Given the description of an element on the screen output the (x, y) to click on. 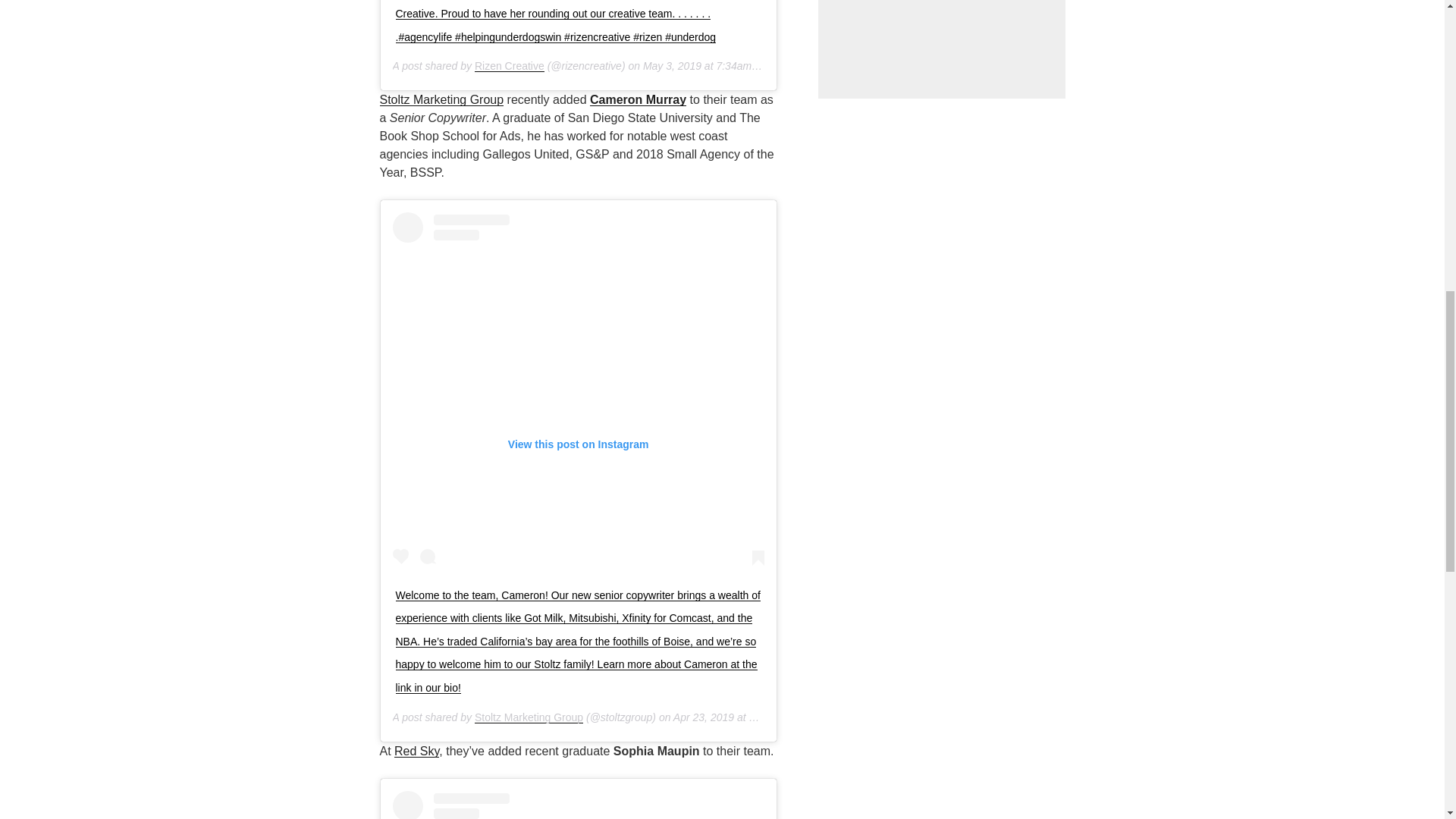
Advertisement (941, 49)
View this post on Instagram (578, 391)
Stoltz Marketing Group (528, 717)
Rizen Creative (509, 65)
View this post on Instagram (578, 805)
Cameron Murray (637, 99)
Stoltz Marketing Group (440, 99)
Red Sky (416, 750)
